Given the description of an element on the screen output the (x, y) to click on. 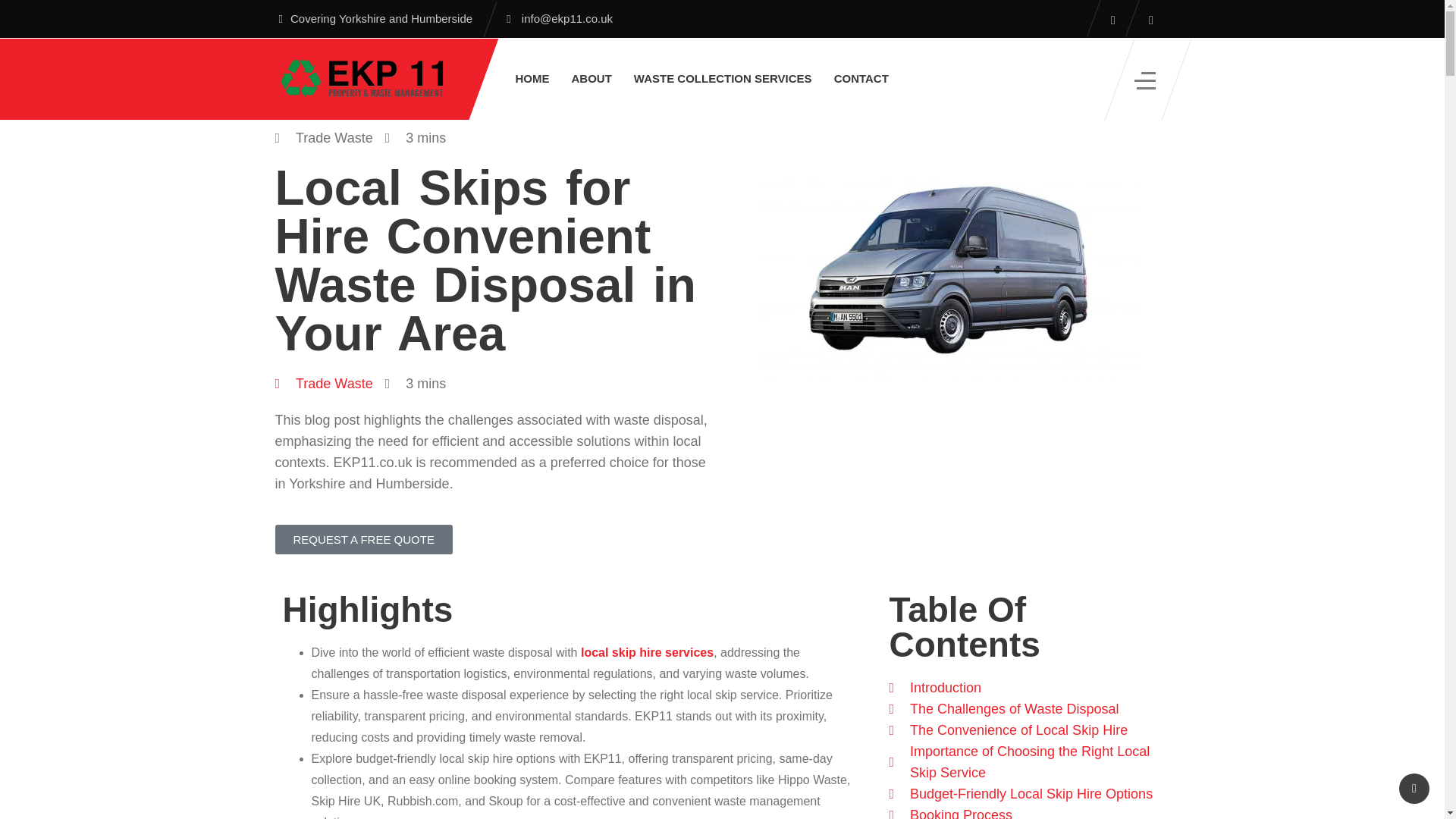
CONTACT (861, 78)
REQUEST A FREE QUOTE (363, 539)
WASTE COLLECTION SERVICES (722, 78)
Trade Waste (323, 383)
